Given the description of an element on the screen output the (x, y) to click on. 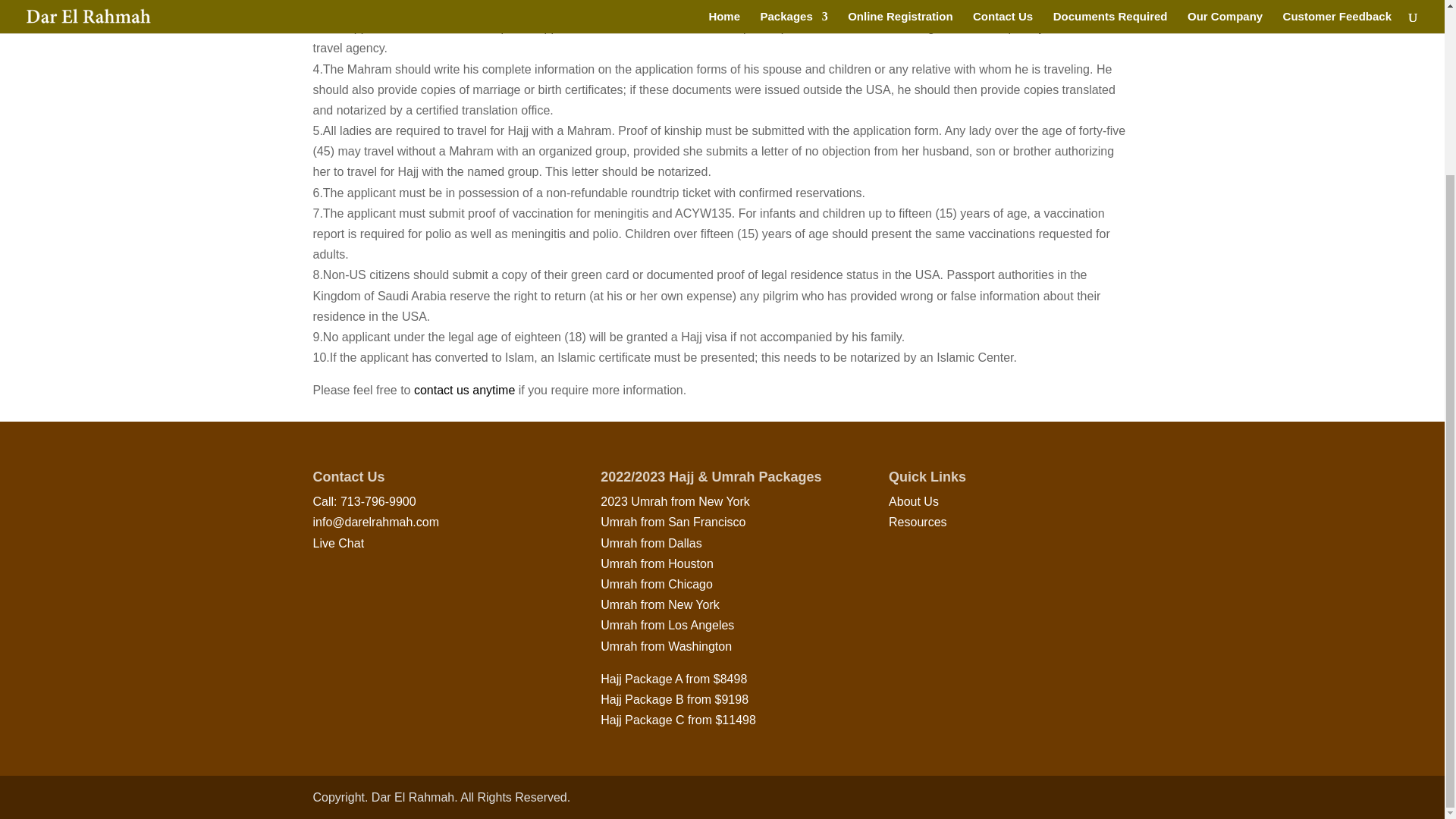
Live Chat (338, 543)
Umrah from Los Angeles (666, 625)
Umrah from New York (659, 604)
Resources (917, 521)
Umrah from Houston (656, 563)
About Us (913, 501)
Umrah from Washington (665, 645)
Umrah from Chicago (656, 584)
2023 Umrah from New York (674, 501)
contact us anytime (464, 390)
Umrah from San Francisco (672, 521)
Umrah from Dallas (650, 543)
